Given the description of an element on the screen output the (x, y) to click on. 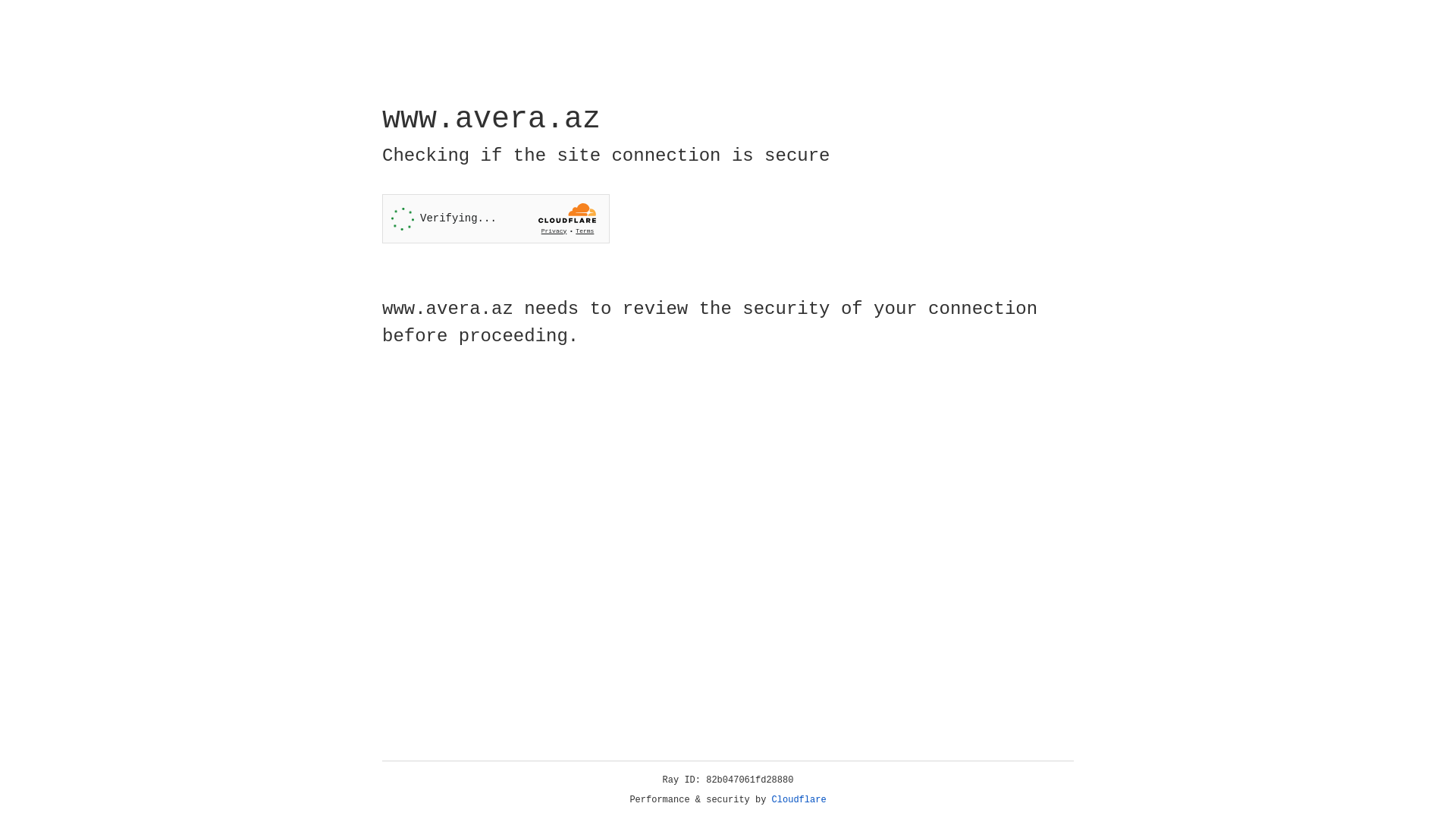
Cloudflare Element type: text (798, 799)
Widget containing a Cloudflare security challenge Element type: hover (495, 218)
